Given the description of an element on the screen output the (x, y) to click on. 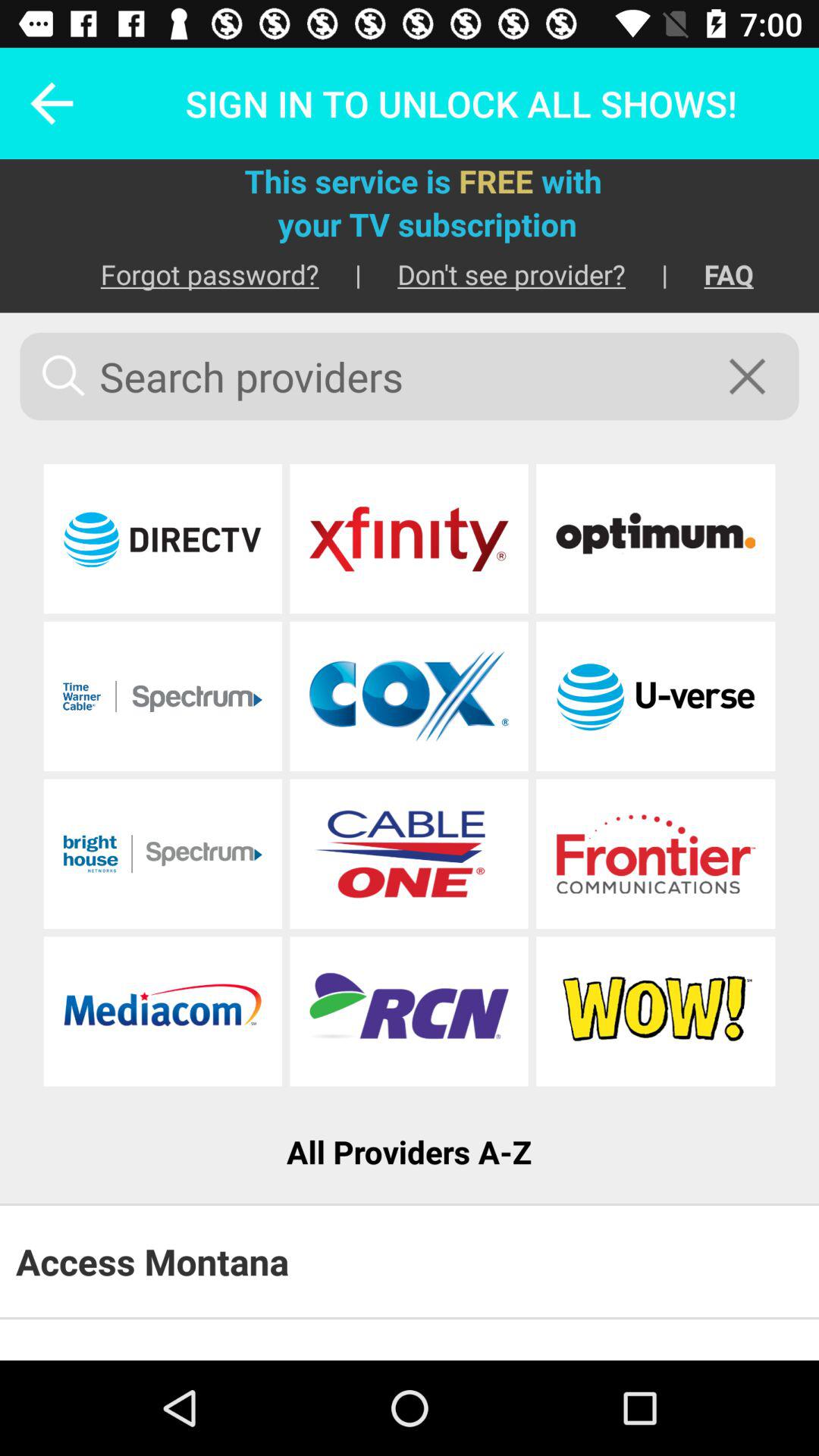
close search (757, 376)
